Given the description of an element on the screen output the (x, y) to click on. 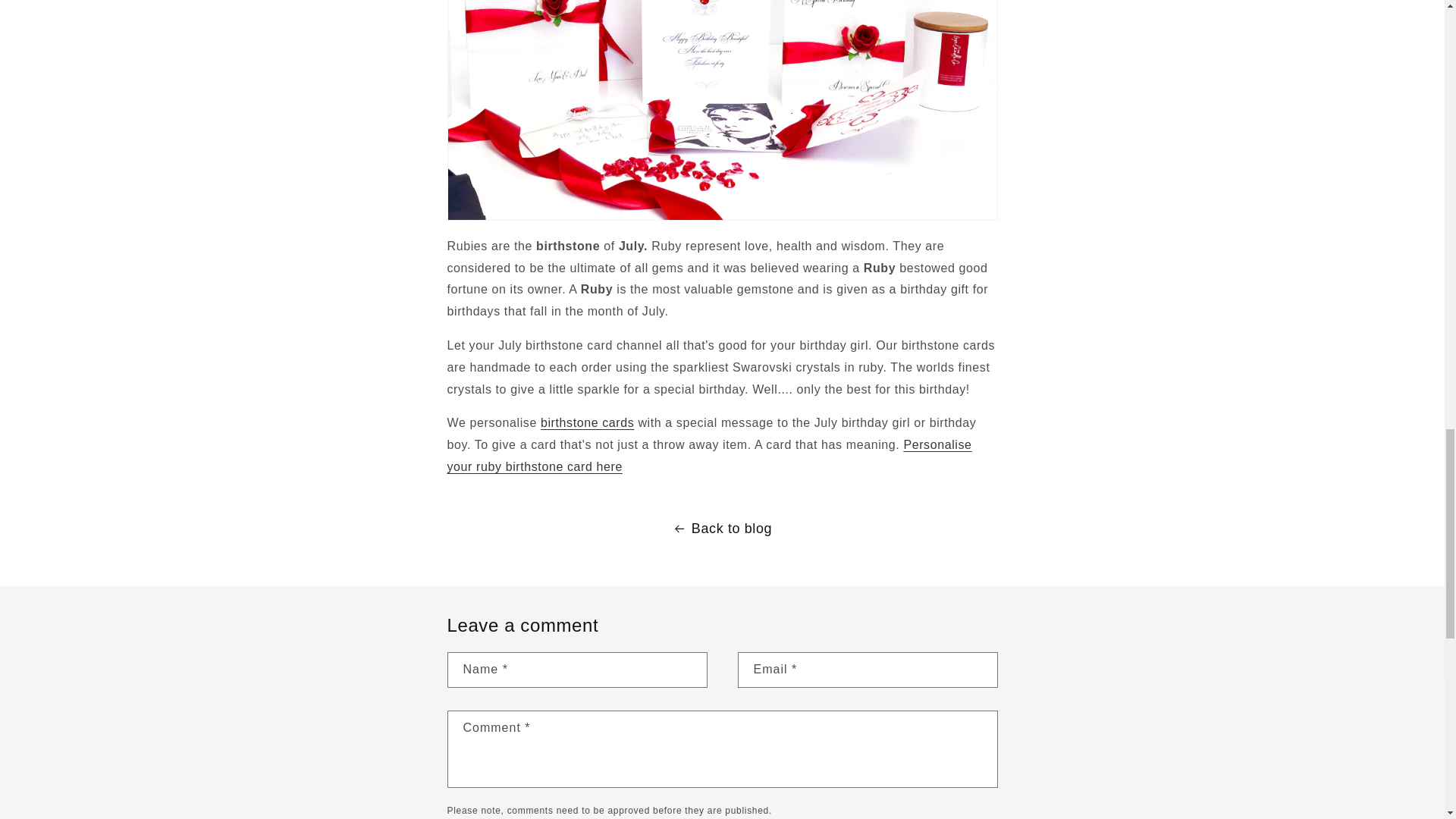
Personalised birth stone cards (586, 422)
